Given the description of an element on the screen output the (x, y) to click on. 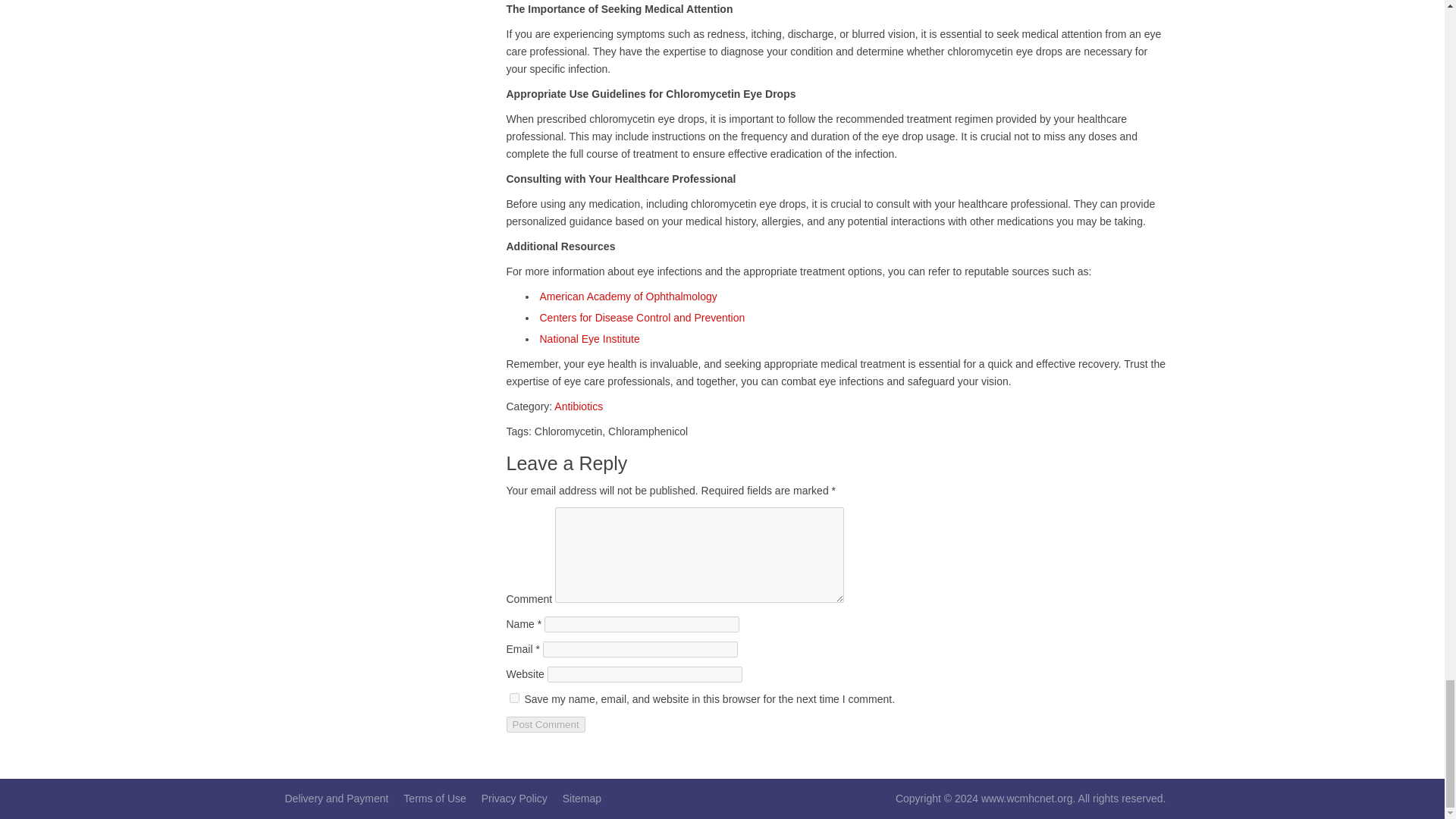
Post Comment (545, 724)
yes (514, 697)
American Academy of Ophthalmology (628, 296)
